Given the description of an element on the screen output the (x, y) to click on. 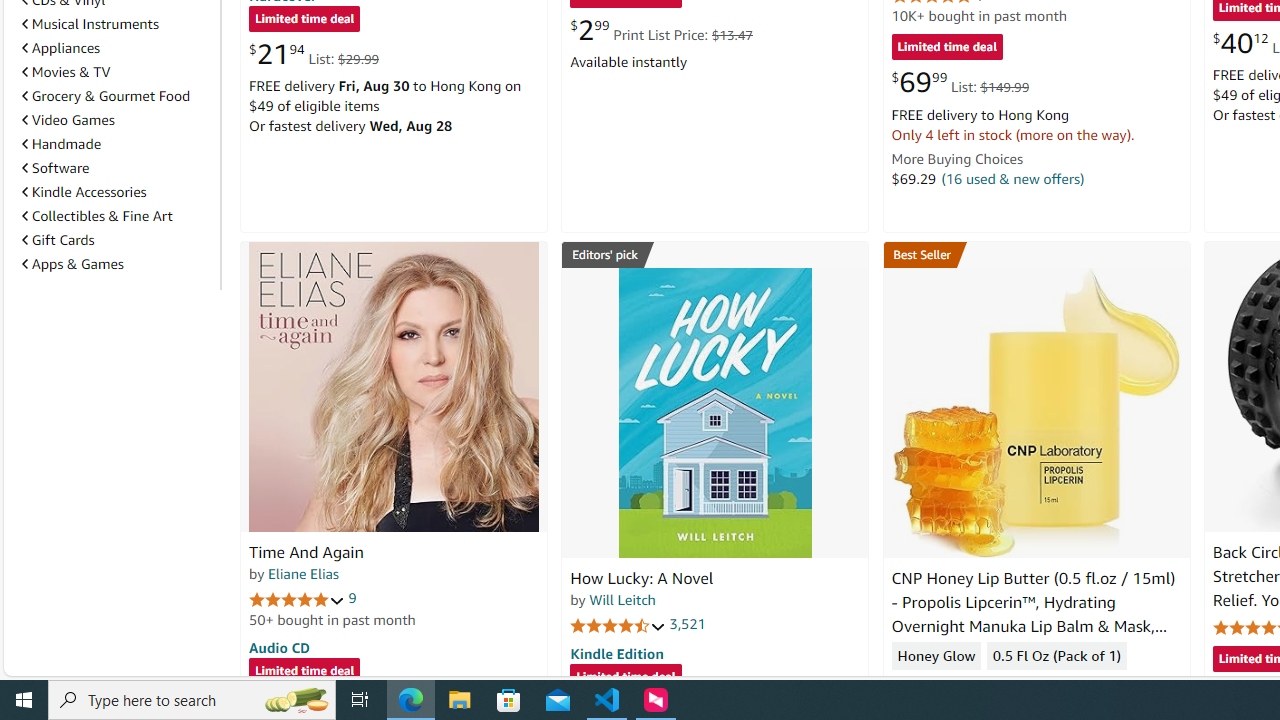
Gift Cards (57, 240)
How Lucky: A Novel (714, 412)
Apps & Games (117, 264)
Kindle Accessories (84, 191)
Collectibles & Fine Art (96, 215)
Eliane Elias (303, 573)
Will Leitch (621, 599)
Best Seller in Lip Butters (1036, 254)
Audio CD (279, 646)
Kindle Accessories (117, 192)
5.0 out of 5 stars (297, 598)
Time And Again (306, 552)
9 (352, 597)
Grocery & Gourmet Food (117, 95)
